Given the description of an element on the screen output the (x, y) to click on. 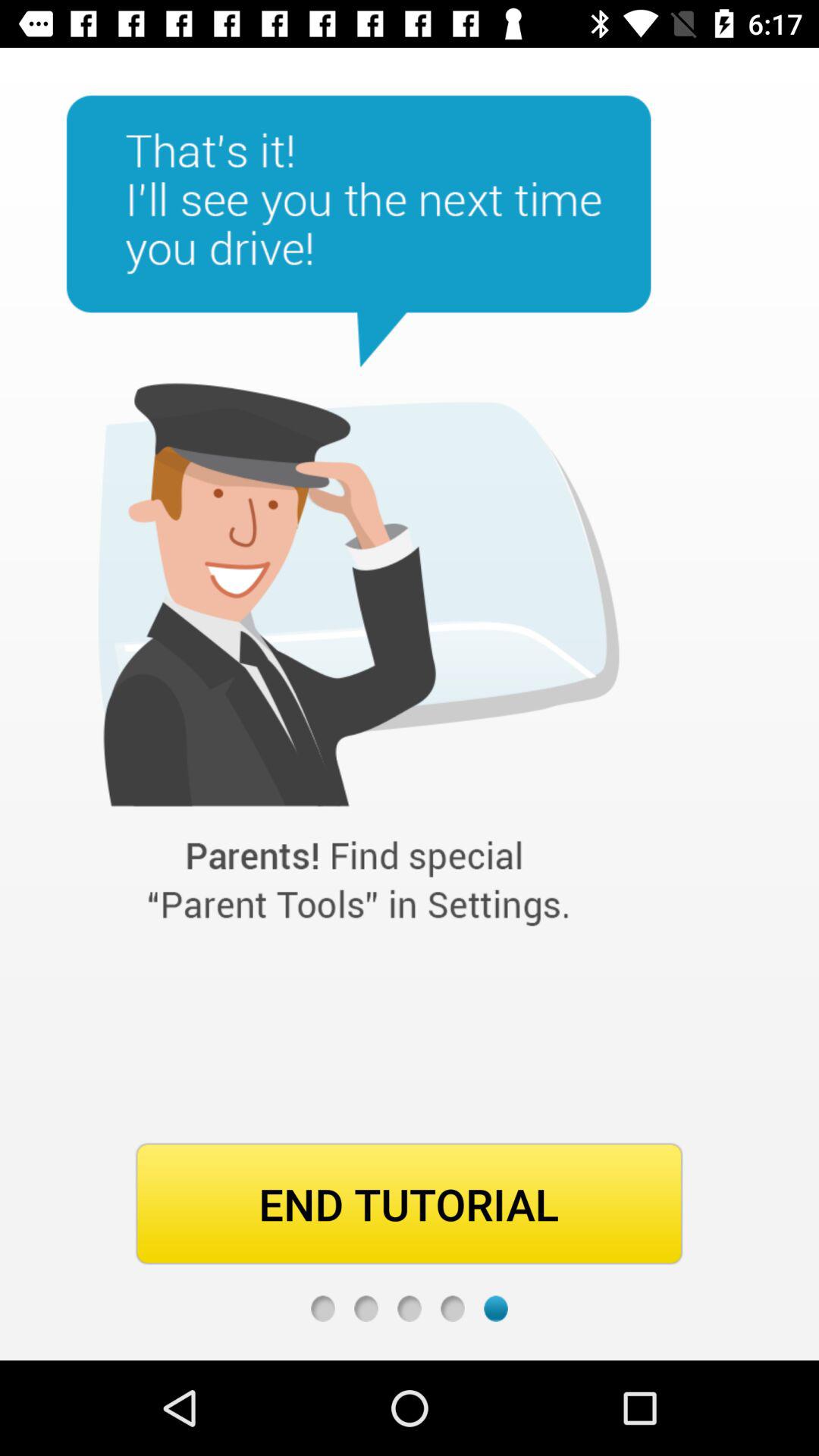
move to slide (409, 1308)
